Given the description of an element on the screen output the (x, y) to click on. 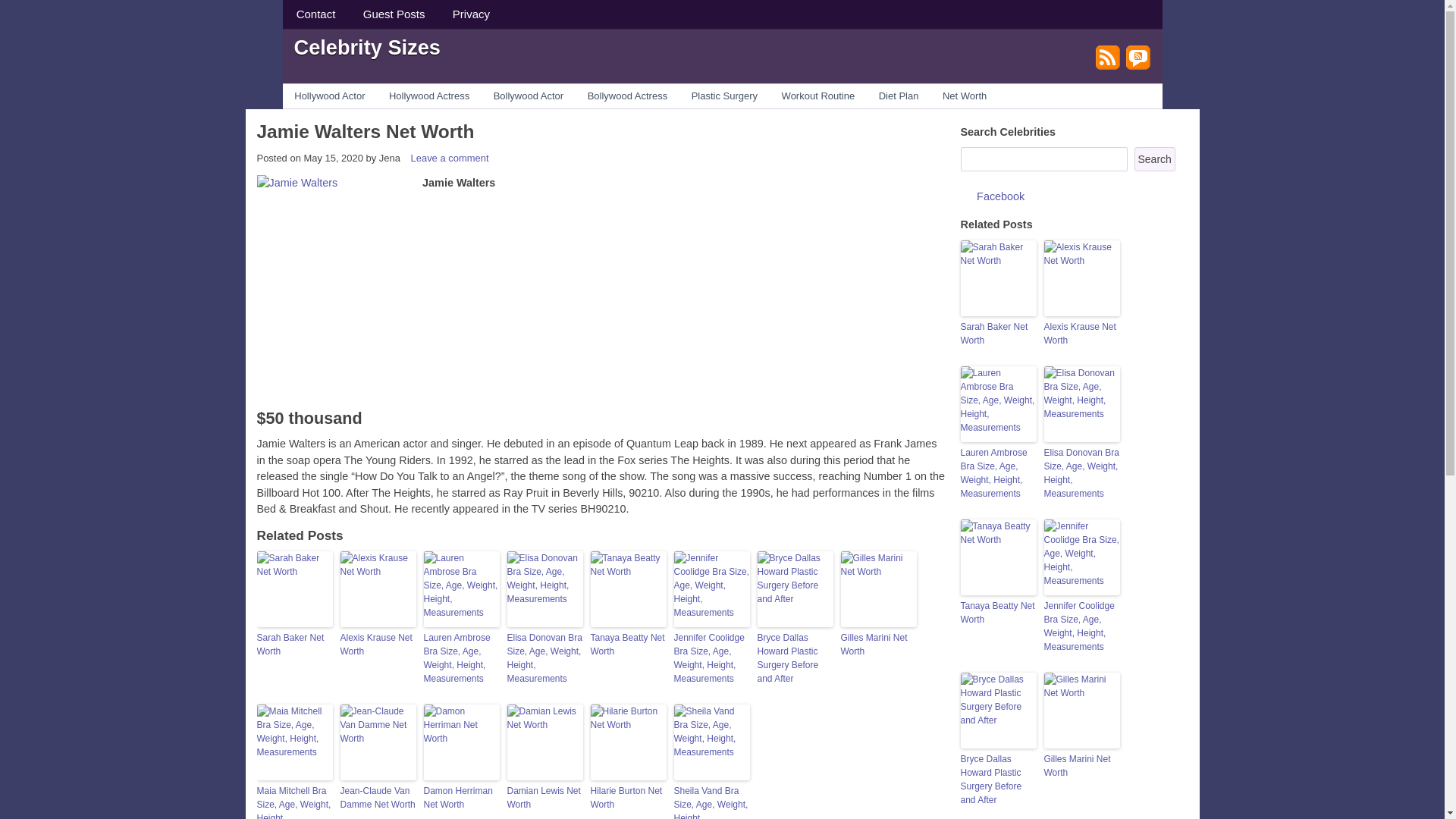
Permalink to Jamie Walters Net Worth (365, 131)
Privacy (471, 14)
Hollywood Actor (329, 96)
Net Worth (964, 96)
Gilles Marini Net Worth (877, 644)
12:28 pm (332, 157)
Alexis Krause Net Worth (376, 644)
Celebrity Sizes (367, 46)
Contact (315, 14)
View all posts by Jena (389, 157)
